Given the description of an element on the screen output the (x, y) to click on. 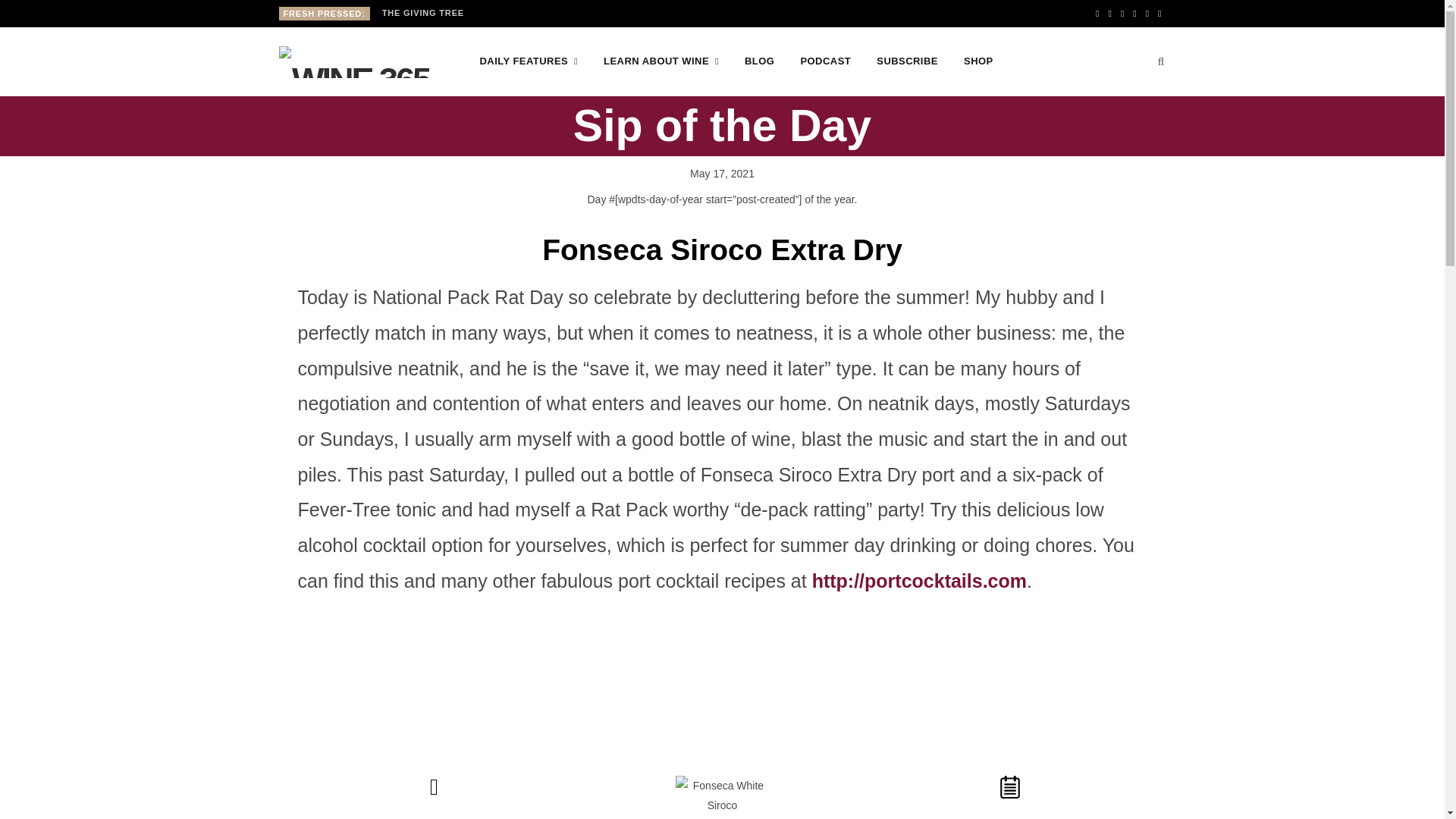
LEARN ABOUT WINE (661, 61)
SUBSCRIBE (906, 61)
PODCAST (825, 61)
DAILY FEATURES (528, 61)
THE GIVING TREE (426, 12)
The Giving Tree (426, 12)
Wine 365 (354, 61)
